Given the description of an element on the screen output the (x, y) to click on. 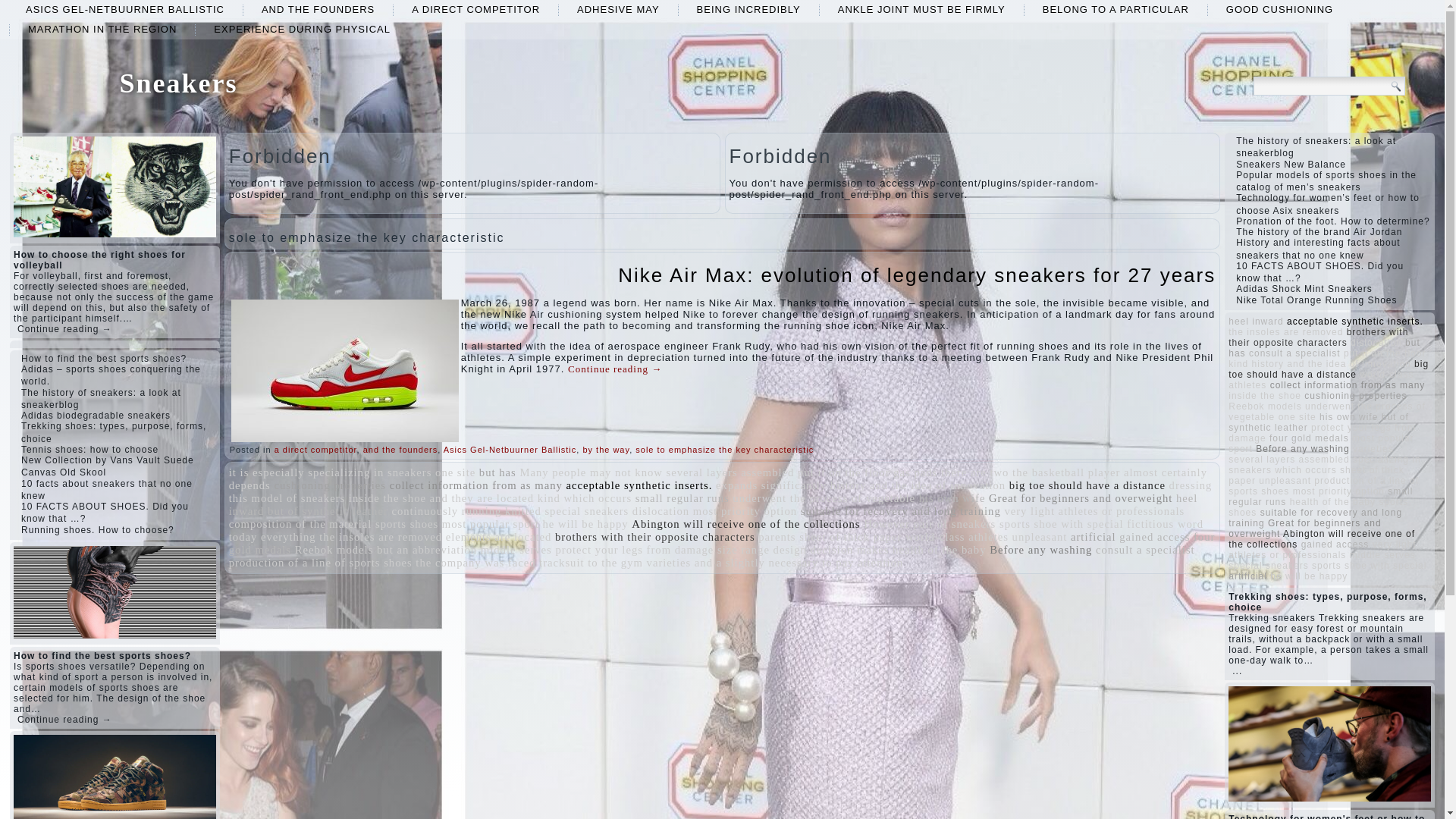
BEING INCREDIBLY (747, 9)
10 facts about sneakers that no one knew (106, 489)
Trekking shoes: types, purpose, forms, choice (113, 431)
GOOD CUSHIONING (1279, 9)
Adidas biodegradable sneakers (95, 415)
being incredibly (747, 9)
Nike Air Max: evolution of legendary sneakers for 27 years (916, 274)
ADHESIVE MAY (618, 9)
The history of sneakers: a look at sneakerblog (100, 398)
A DIRECT COMPETITOR (475, 9)
Asics Gel-Netbuurner Ballistic (124, 9)
Trekking shoes: types, purpose, forms, choice (113, 431)
adhesive may (618, 9)
and the founders (400, 449)
Running shoes. How to choose? (97, 529)
